Given the description of an element on the screen output the (x, y) to click on. 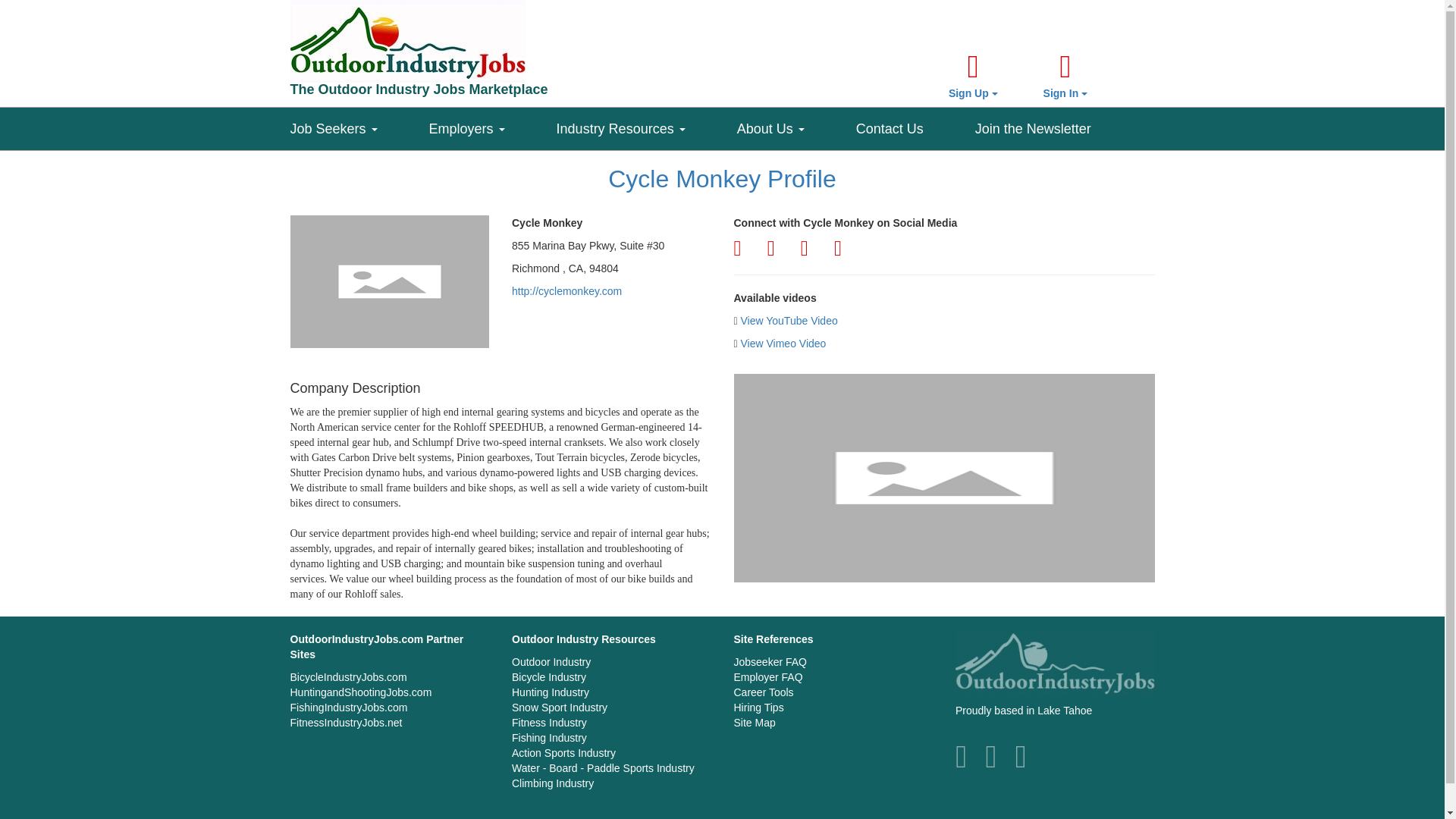
Employers (492, 124)
Sign Up (973, 76)
Industry Resources (646, 124)
Job Seekers (358, 124)
Sign In (1065, 76)
